Given the description of an element on the screen output the (x, y) to click on. 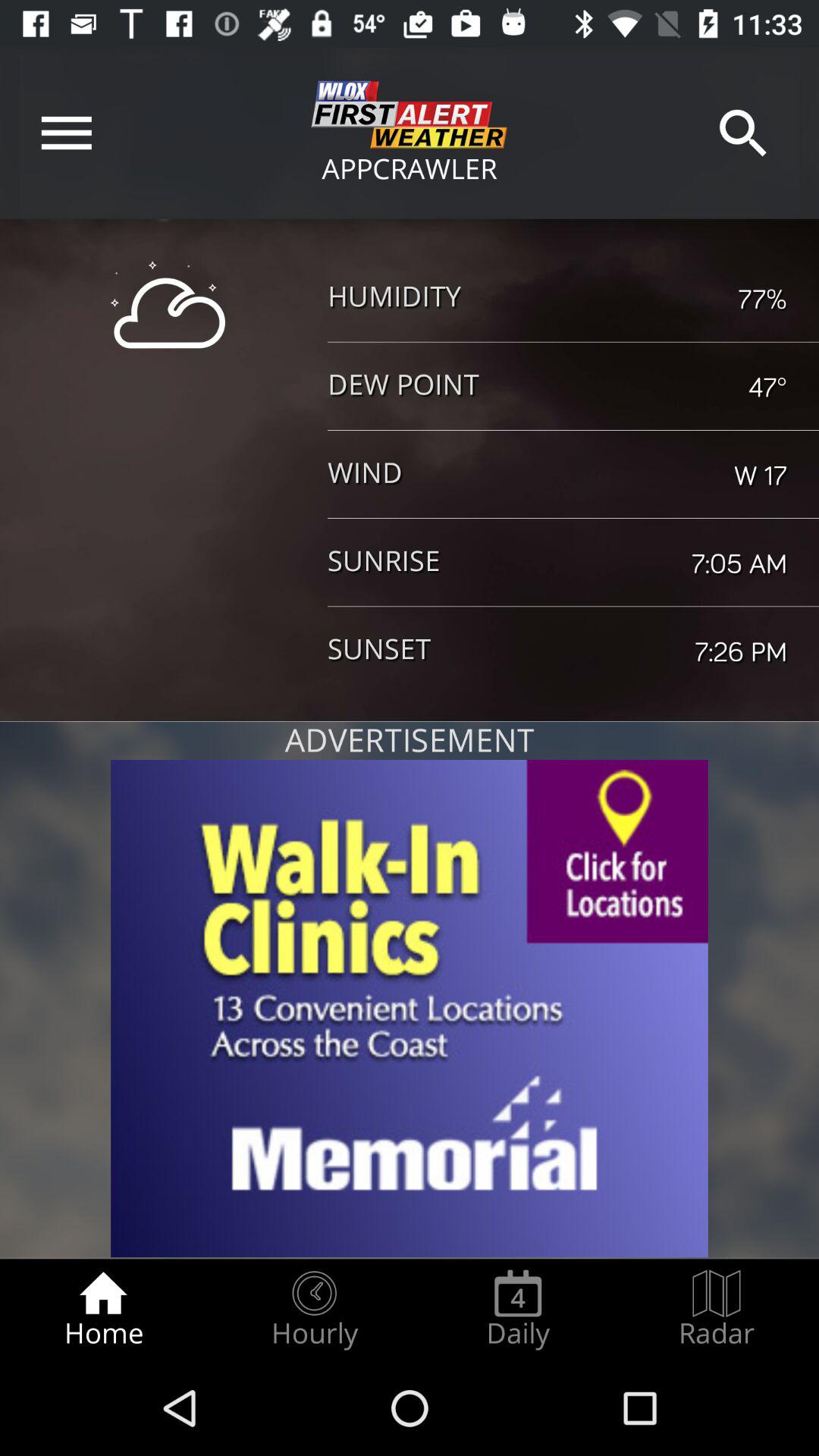
select the item to the right of the hourly item (518, 1309)
